Given the description of an element on the screen output the (x, y) to click on. 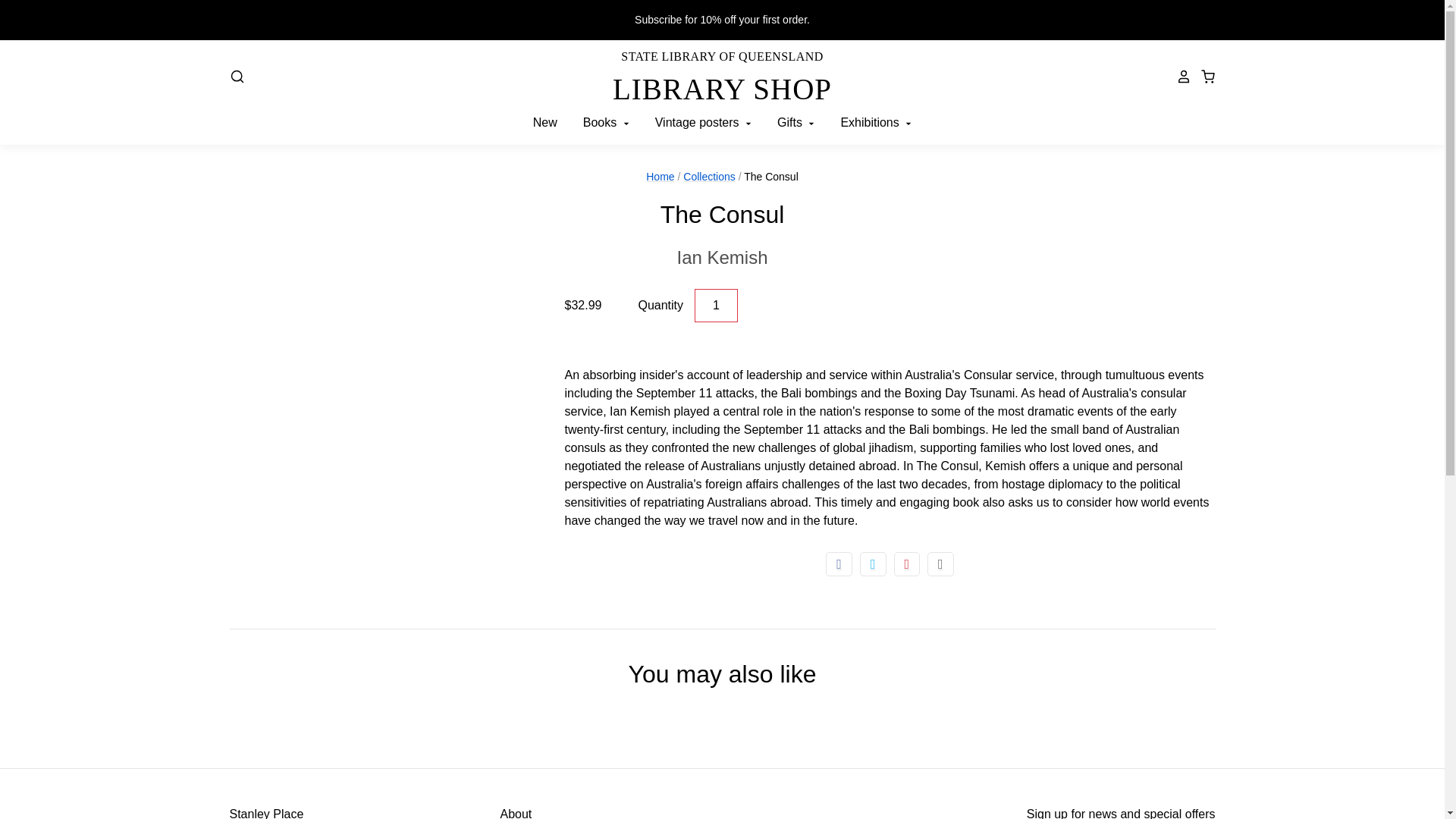
1 (715, 305)
